Given the description of an element on the screen output the (x, y) to click on. 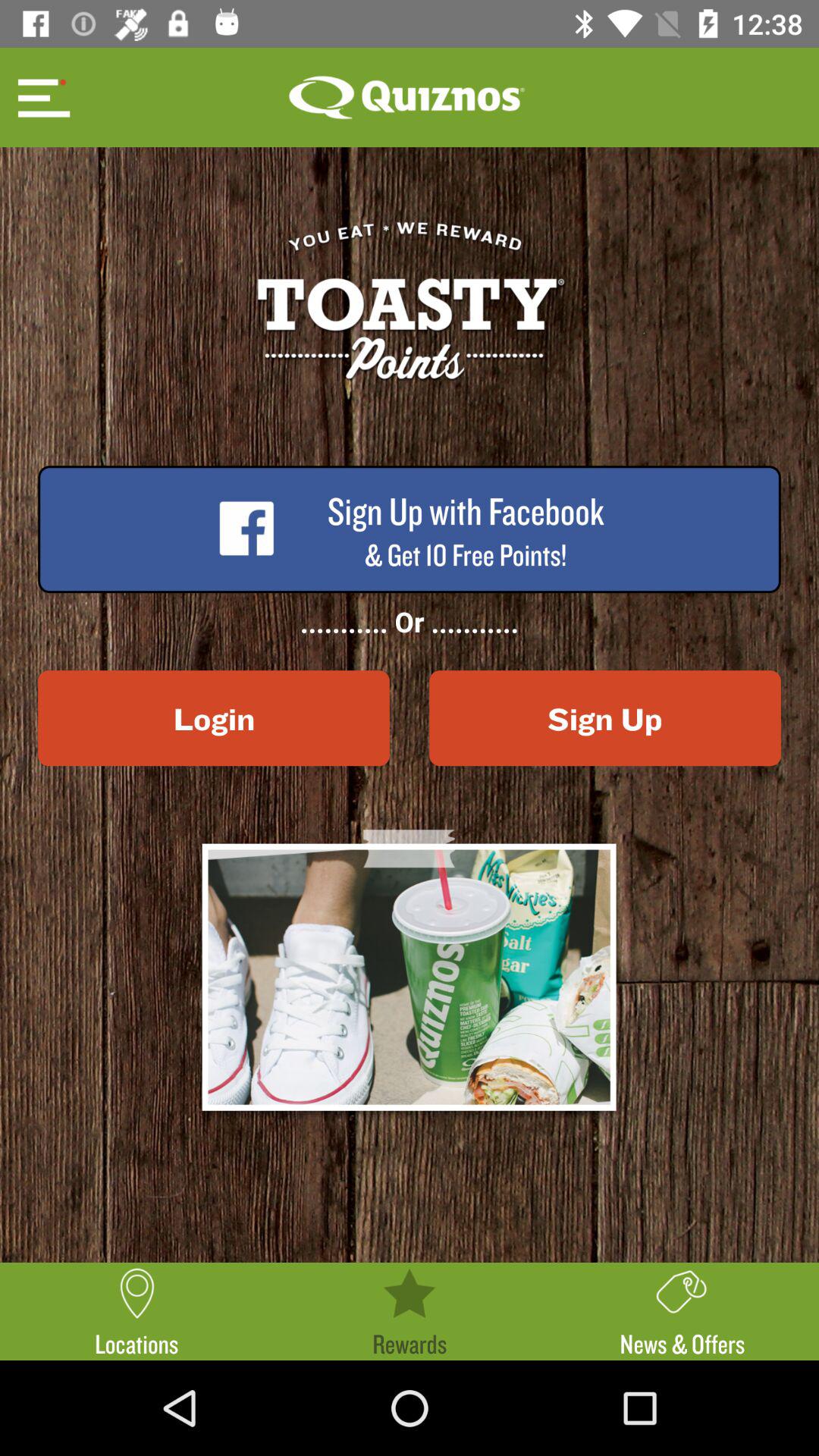
see menu (41, 97)
